Given the description of an element on the screen output the (x, y) to click on. 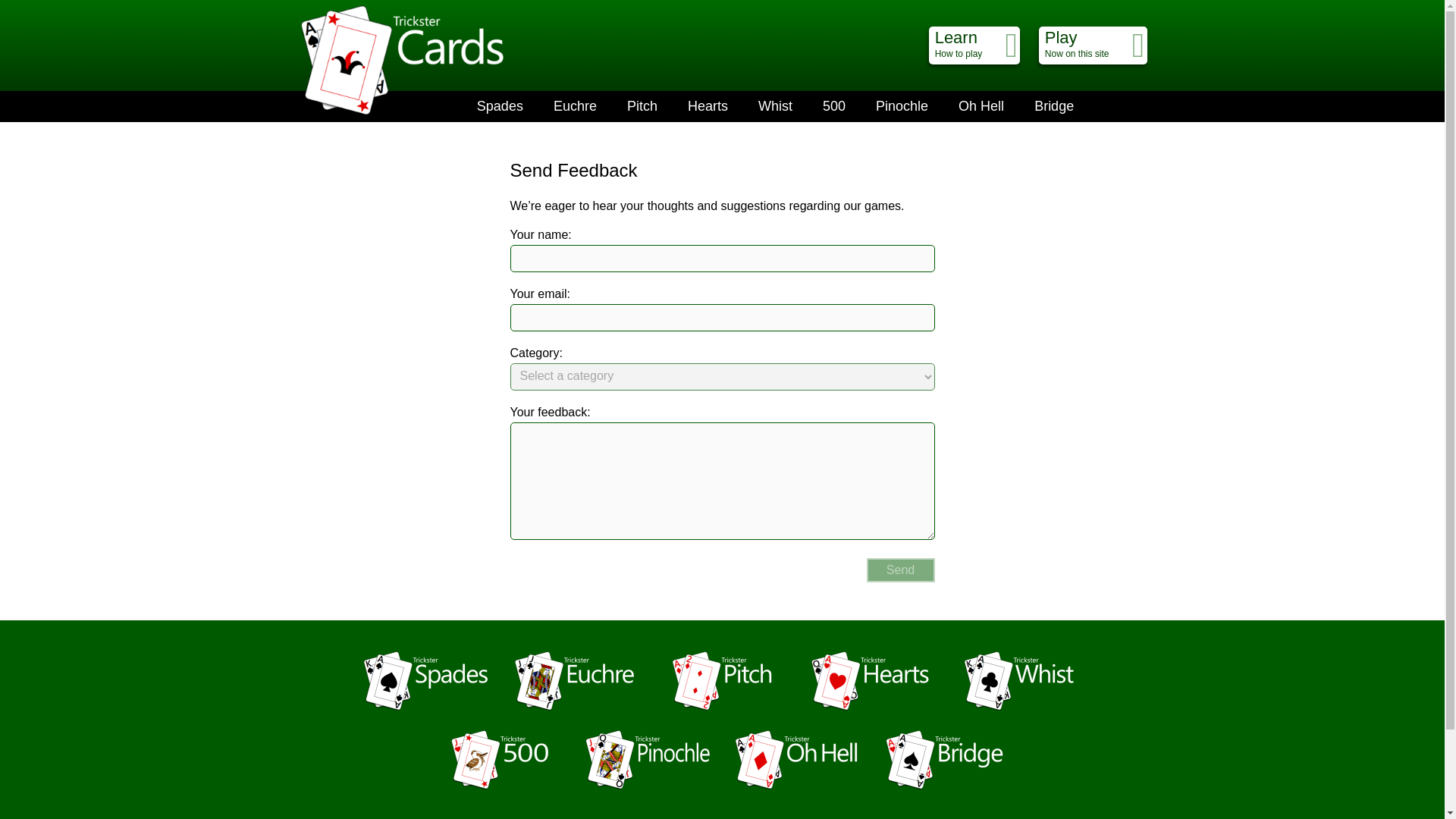
Pinochle (1093, 45)
500 (901, 106)
Hearts (834, 106)
Spades (707, 106)
Send (499, 106)
Oh Hell (900, 569)
Pitch (981, 106)
Bridge (974, 45)
Euchre (641, 106)
Whist (1054, 106)
